Given the description of an element on the screen output the (x, y) to click on. 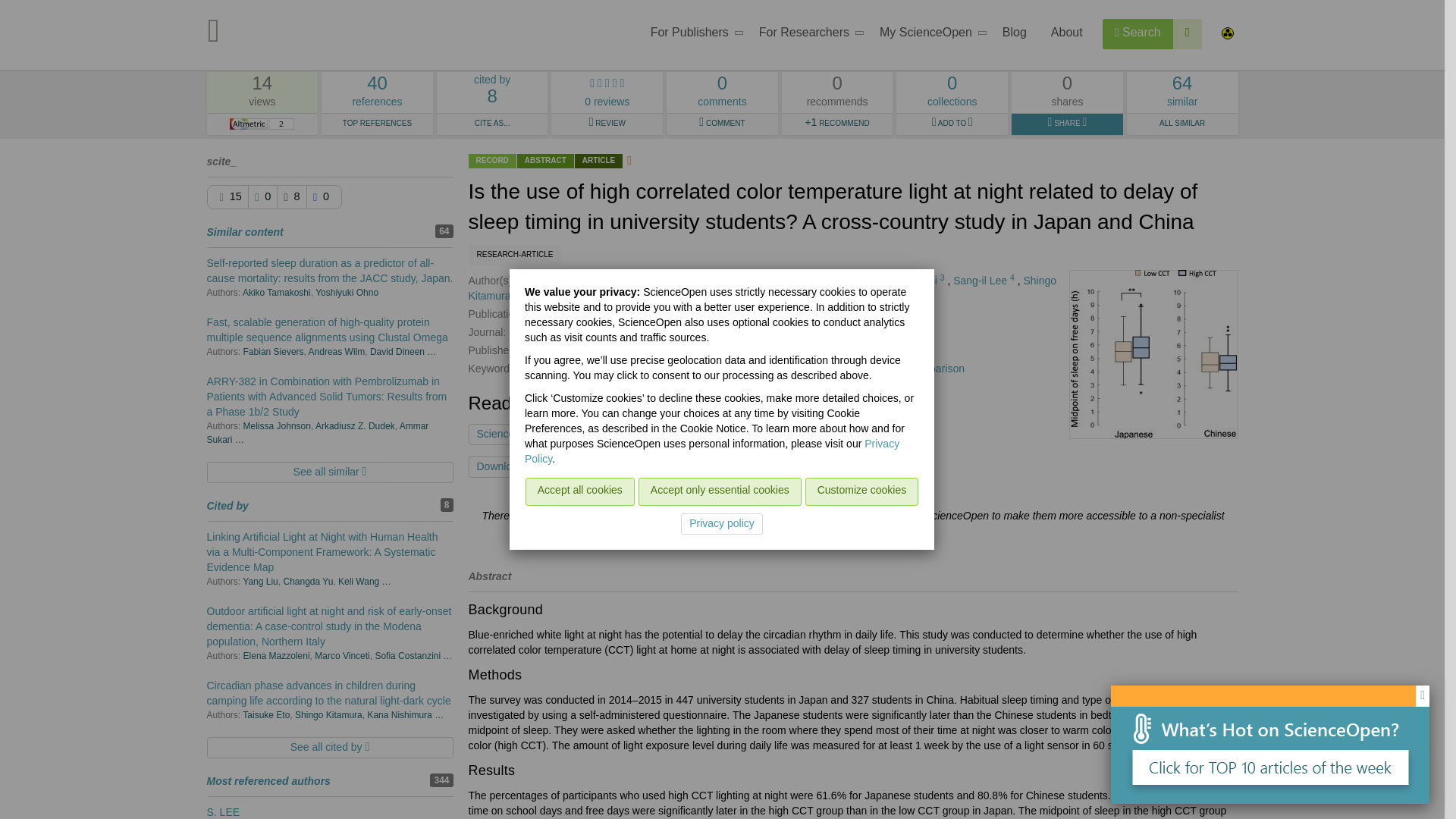
Search (1137, 33)
For Publishers (376, 92)
My ScienceOpen (692, 34)
Bookmark (928, 34)
For Researchers (647, 466)
Advanced search (806, 34)
